Given the description of an element on the screen output the (x, y) to click on. 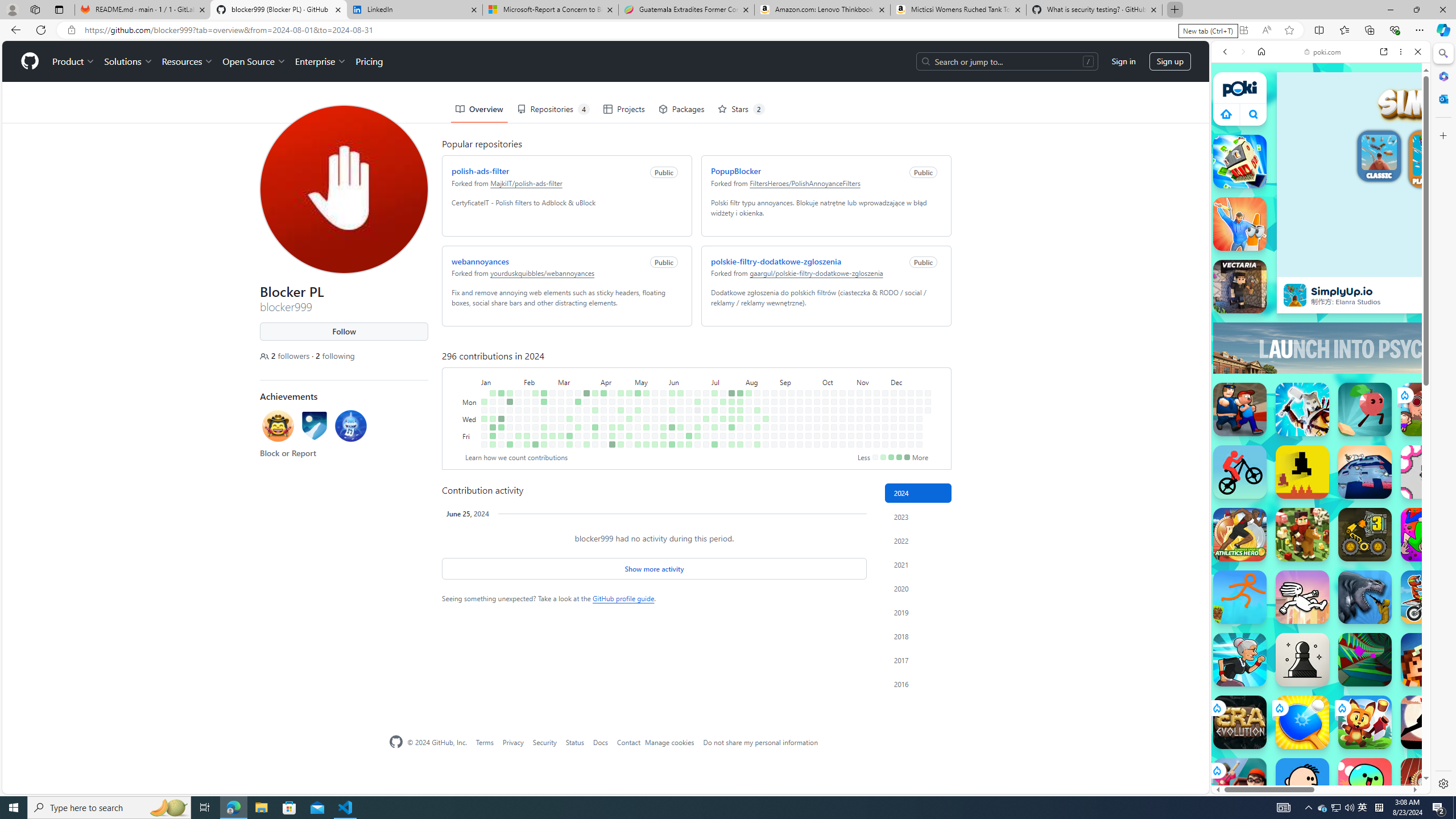
Resources (187, 60)
No contributions on March 23rd. (577, 444)
Contact (627, 741)
No contributions on June 30th. (706, 392)
Tuesday (471, 410)
Lurkers.io (1427, 659)
Achievement: Arctic Code Vault Contributor (315, 425)
No contributions on December 27th. (919, 435)
3 contributions on April 19th. (611, 435)
3 contributions on January 7th. (492, 392)
Enterprise (319, 60)
No contributions on August 28th. (774, 418)
No contributions on March 9th. (560, 444)
Class: rCs5cyEiqiTpYvt_VBCR (1216, 770)
